Given the description of an element on the screen output the (x, y) to click on. 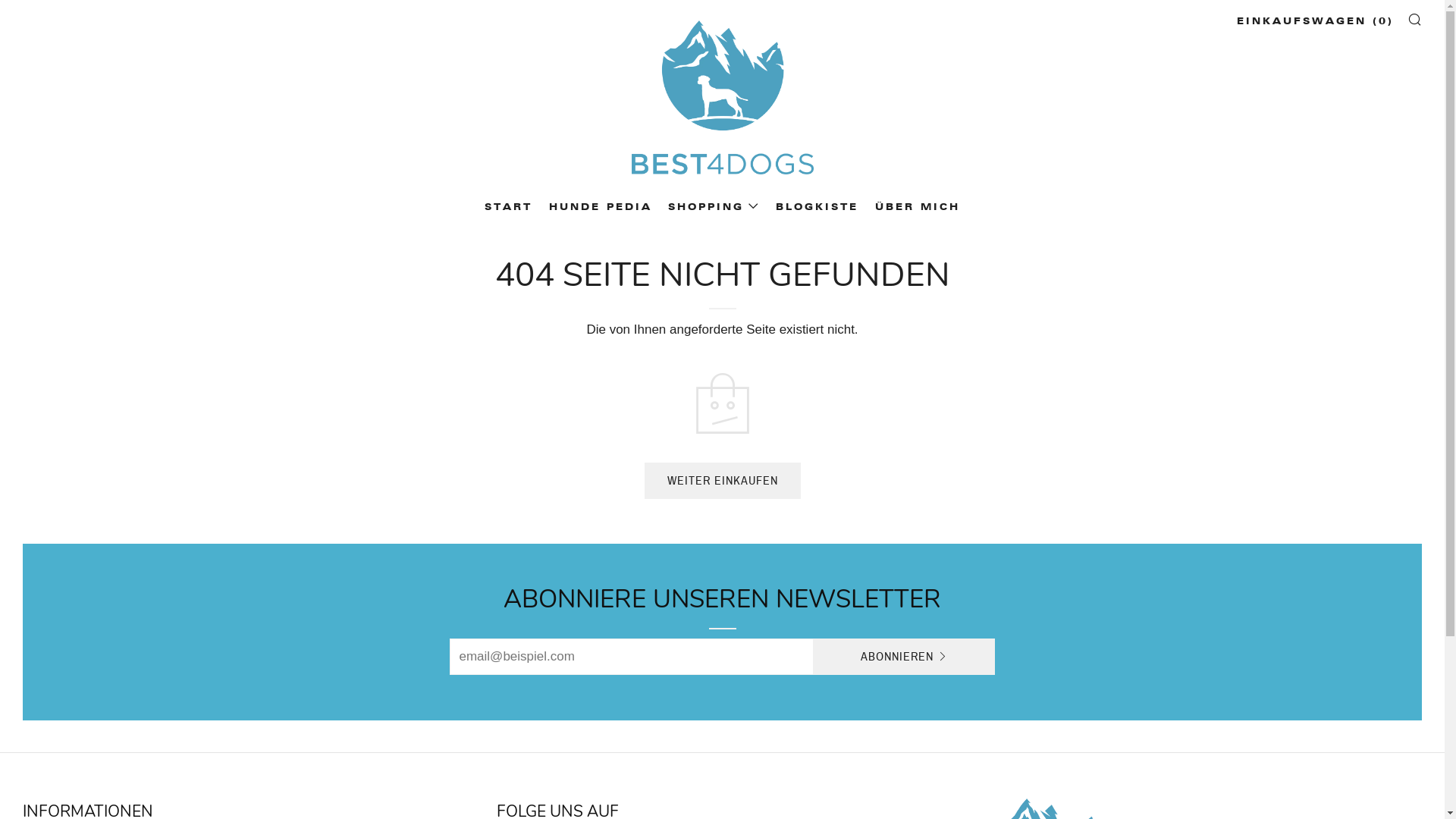
EINKAUFSWAGEN (0) Element type: text (1314, 21)
SUCHEN Element type: text (1414, 18)
START Element type: text (508, 206)
ABONNIEREN Element type: text (903, 656)
WEITER EINKAUFEN Element type: text (722, 480)
HUNDE PEDIA Element type: text (600, 206)
BLOGKISTE Element type: text (816, 206)
SHOPPING Element type: text (713, 206)
